Given the description of an element on the screen output the (x, y) to click on. 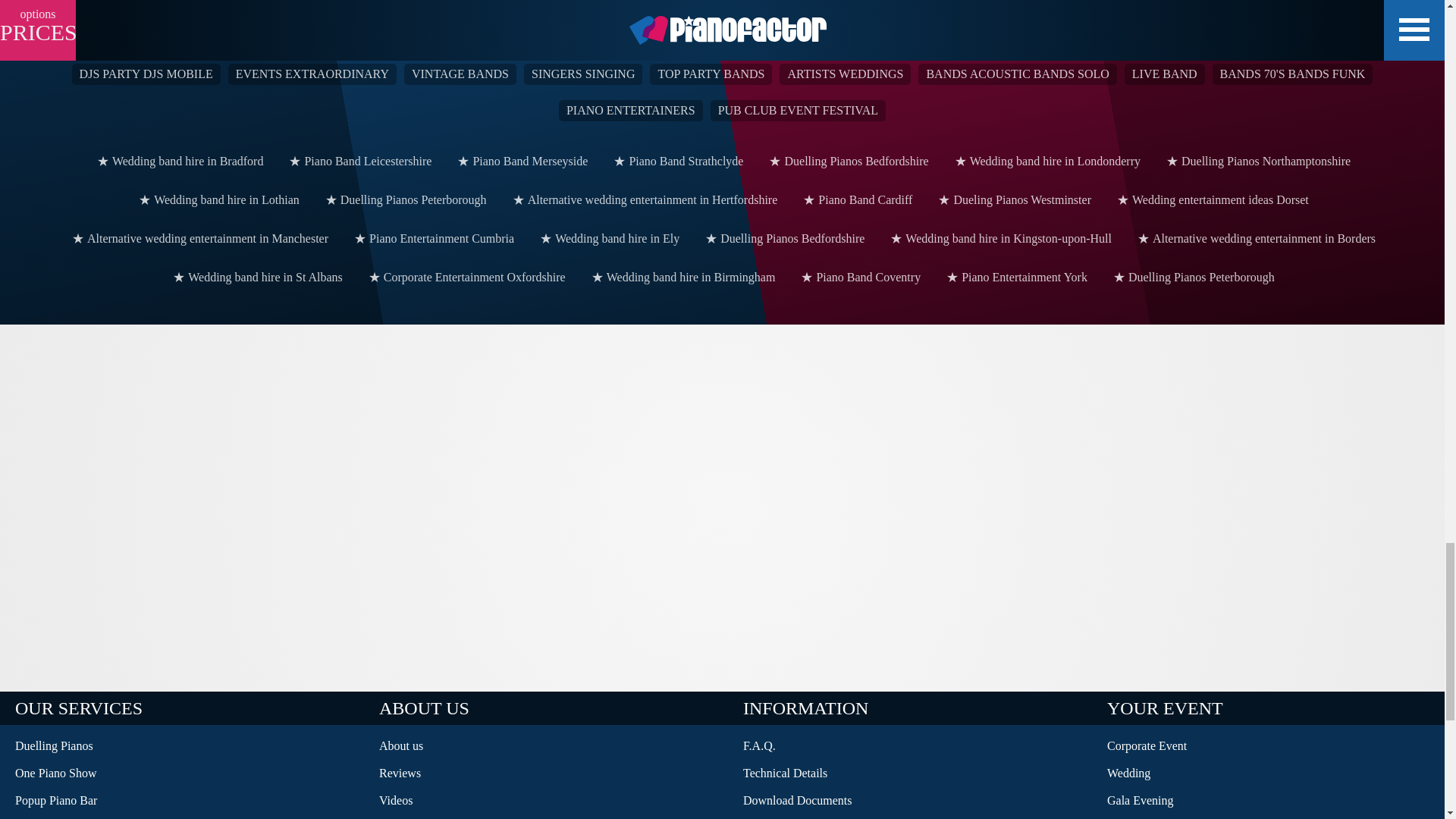
Reviews (546, 773)
Piano Band Merseyside (521, 160)
Alternative wedding entertainment in Hertfordshire (643, 199)
Piano Band Strathclyde (676, 160)
About us (546, 746)
Duelling Pianos Bedfordshire (782, 238)
About us (546, 746)
Piano Entertainment York (1015, 276)
Wedding band hire in Bradford (178, 160)
Duelling Pianos (182, 746)
Wedding band hire in Birmingham (682, 276)
Popup Piano Bar (182, 800)
One Piano Show (182, 773)
Wedding band hire in St Albans (256, 276)
FAQ (910, 746)
